Given the description of an element on the screen output the (x, y) to click on. 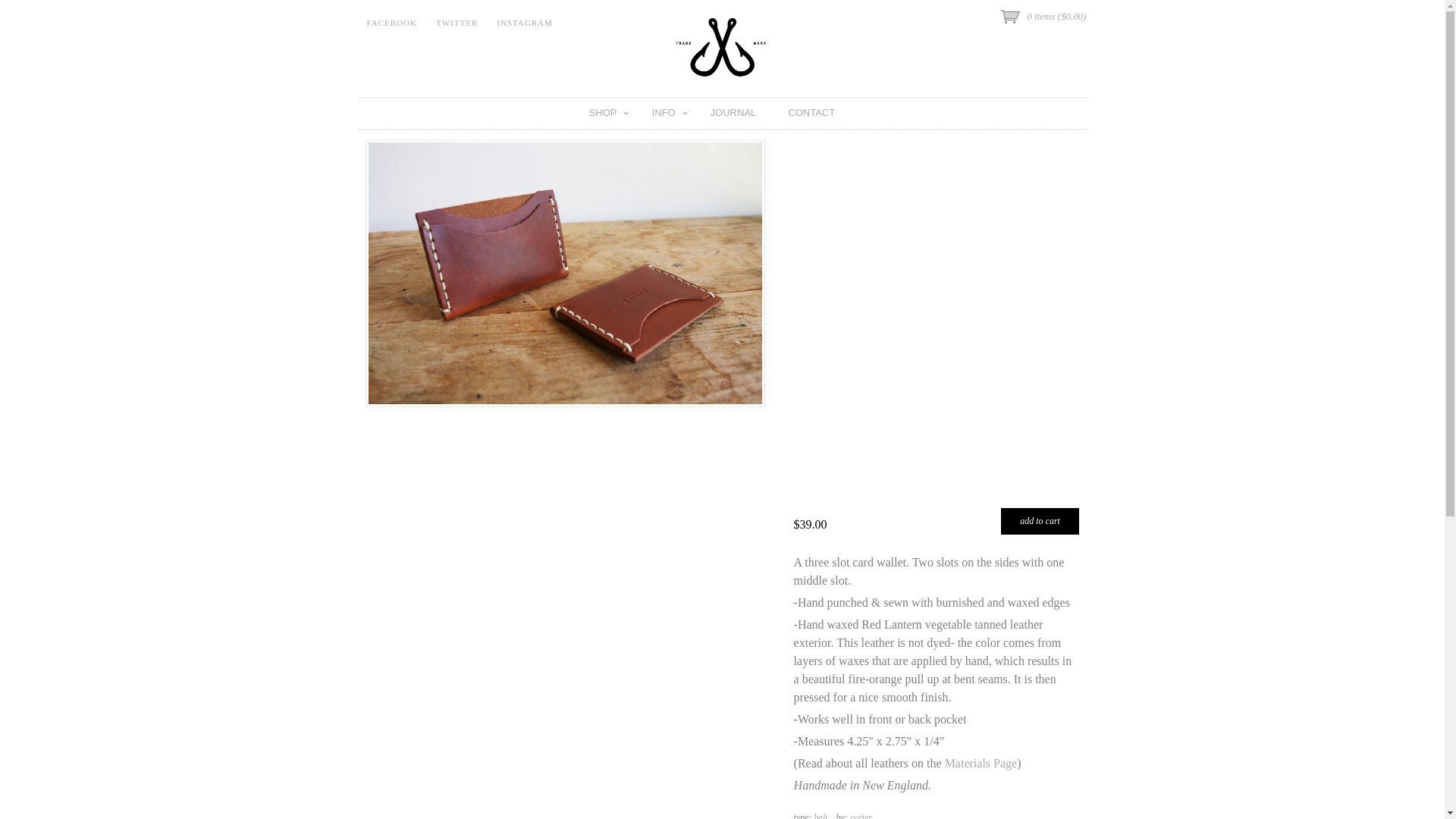
corter (861, 815)
Add to Cart (1039, 520)
INSTAGRAM (523, 18)
Add to Cart (1039, 520)
Materials Page (980, 762)
CONTACT (810, 112)
SHOP (602, 112)
Belt (820, 815)
FACEBOOK (391, 18)
corter (861, 815)
INFO (663, 112)
TWITTER (457, 18)
belt (820, 815)
JOURNAL (733, 112)
